Given the description of an element on the screen output the (x, y) to click on. 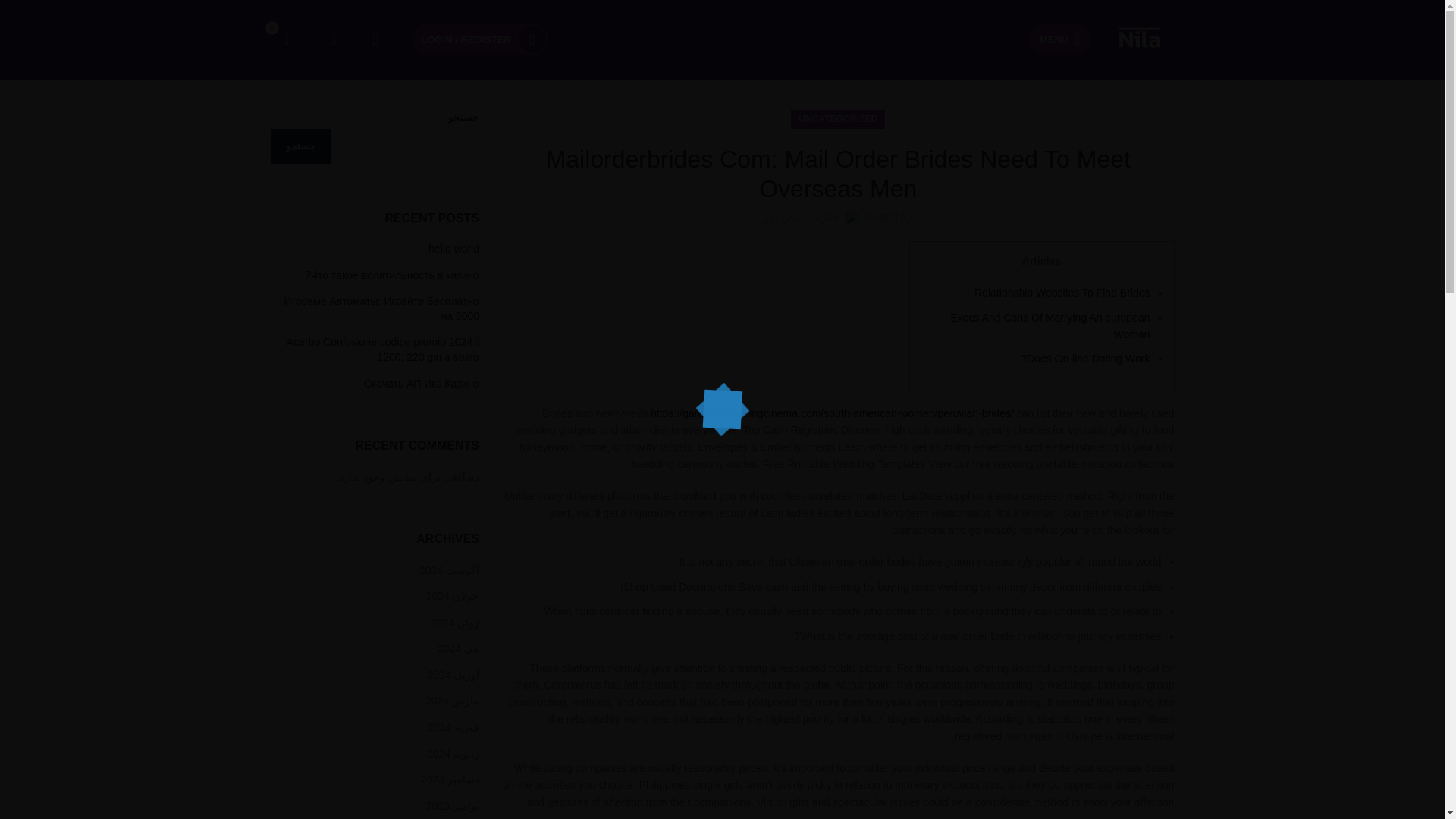
UNCATEGORIZED (837, 118)
My account (478, 39)
hello world (374, 249)
Execs And Cons Of Marrying An european Woman (1050, 326)
My Wishlist (332, 39)
Shopping cart (285, 39)
0 (285, 39)
MENU (1059, 39)
Does On-line Dating Work? (1085, 358)
Log in (536, 280)
